Given the description of an element on the screen output the (x, y) to click on. 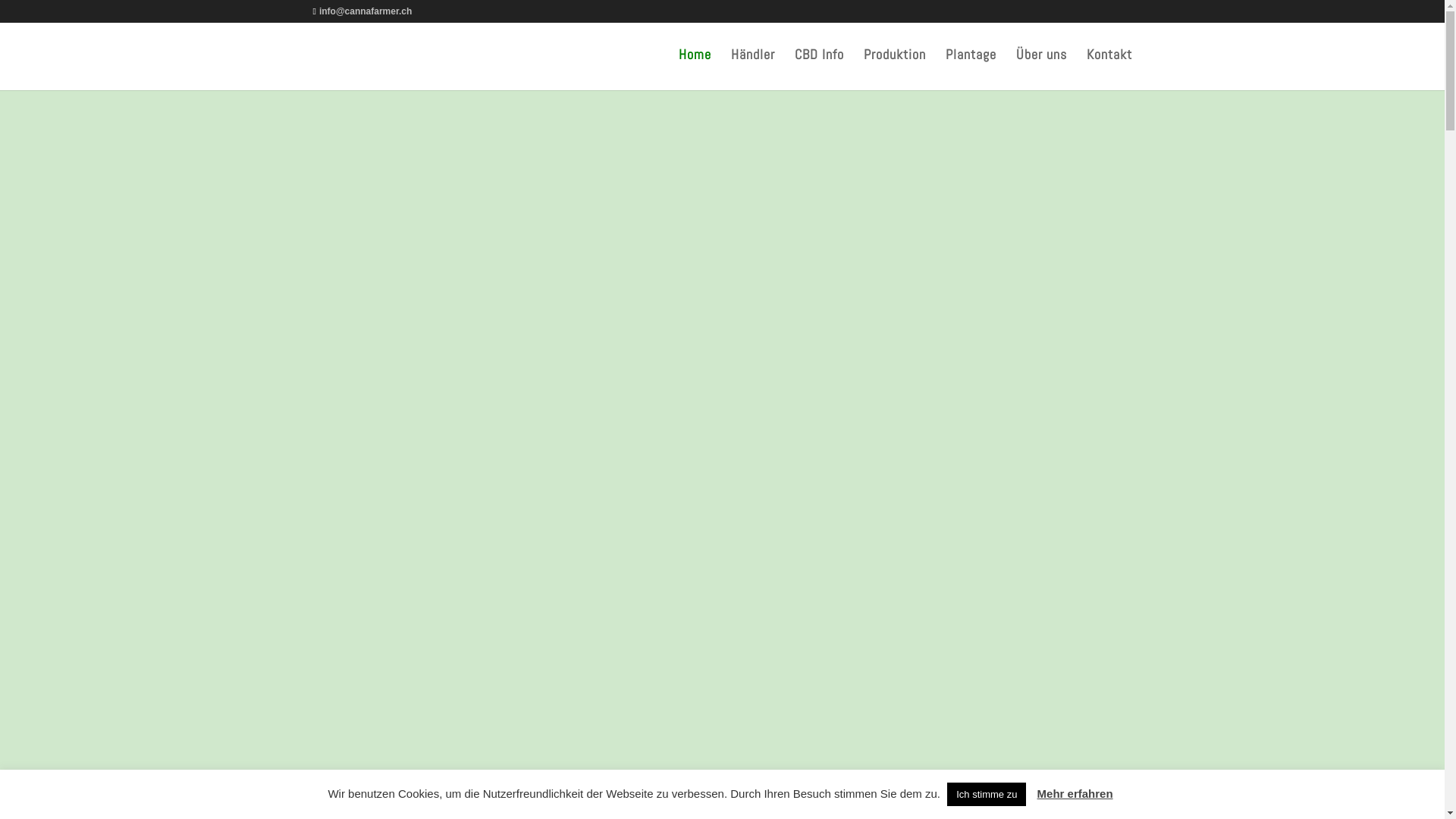
Produktion Element type: text (893, 69)
Kontakt Element type: text (1108, 69)
Ich stimme zu Element type: text (986, 794)
CBD Info Element type: text (819, 69)
Home Element type: text (693, 69)
Plantage Element type: text (969, 69)
info@cannafarmer.ch Element type: text (361, 11)
Mehr erfahren Element type: text (1075, 793)
